Given the description of an element on the screen output the (x, y) to click on. 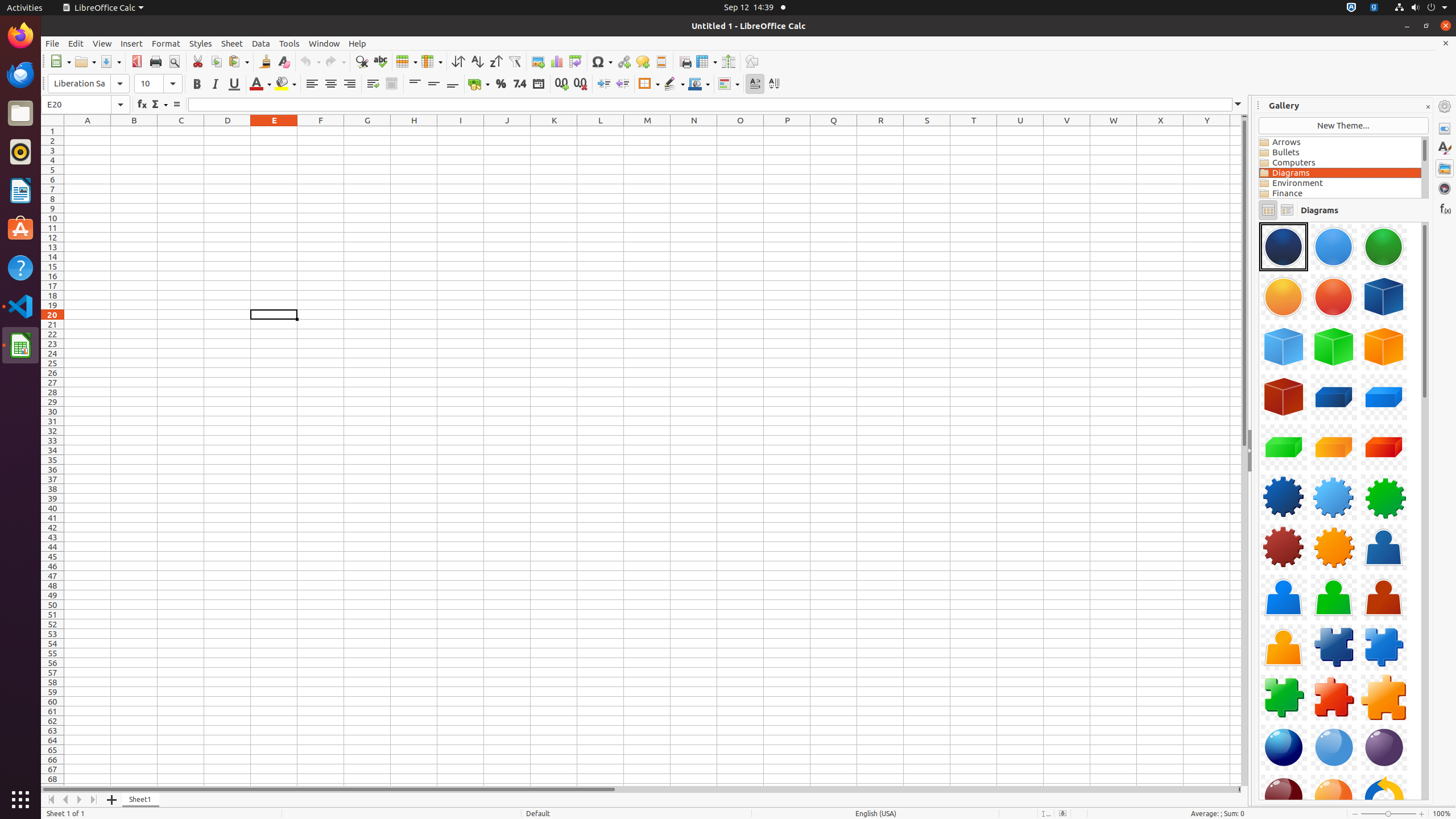
View Element type: menu (102, 43)
Background Color Element type: push-button (285, 83)
Component-Person02-Blue Element type: list-item (1283, 596)
F1 Element type: table-cell (320, 130)
Currency Element type: push-button (478, 83)
